Given the description of an element on the screen output the (x, y) to click on. 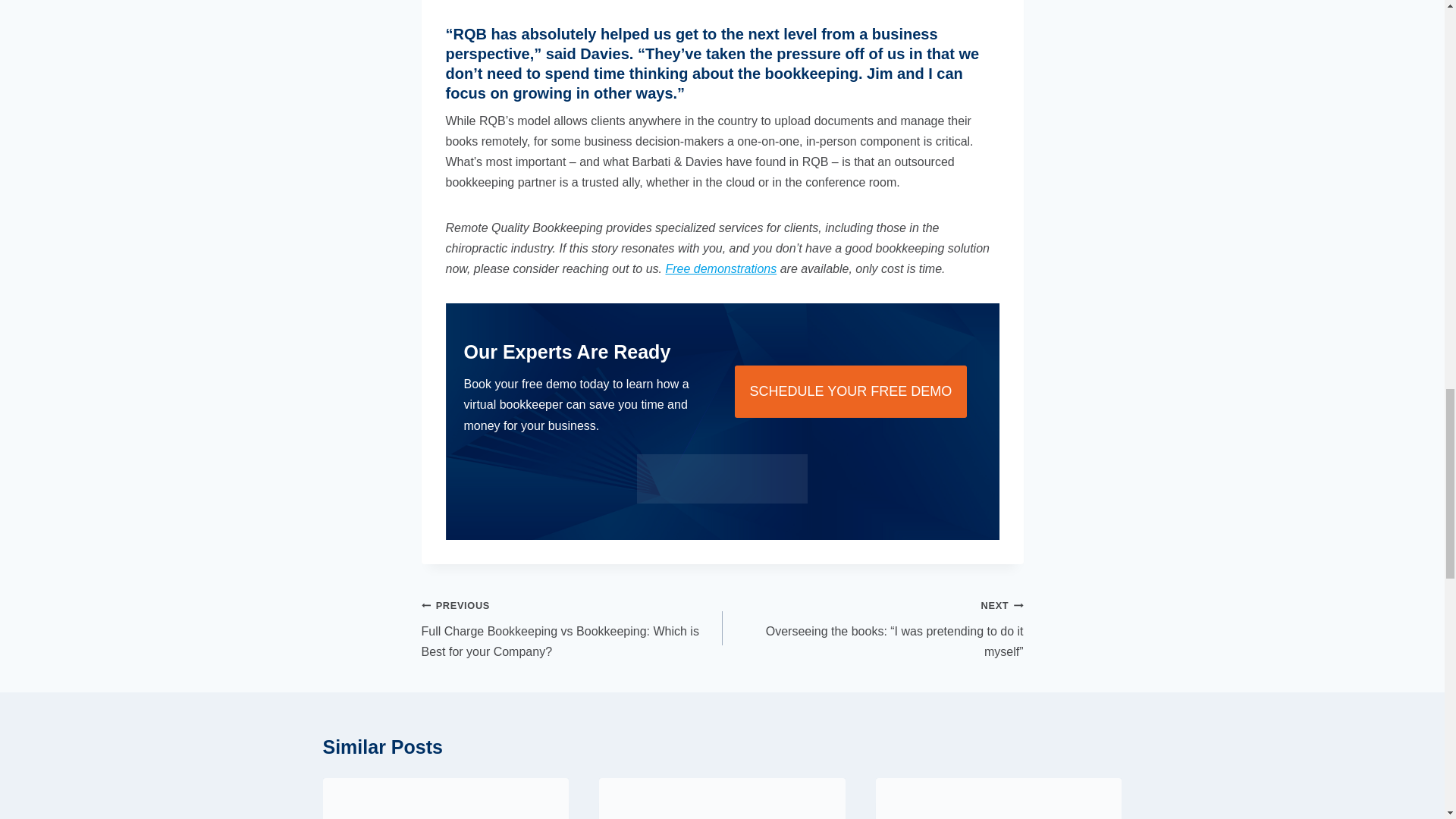
SCHEDULE YOUR FREE DEMO (849, 391)
Free demonstrations (720, 268)
